Given the description of an element on the screen output the (x, y) to click on. 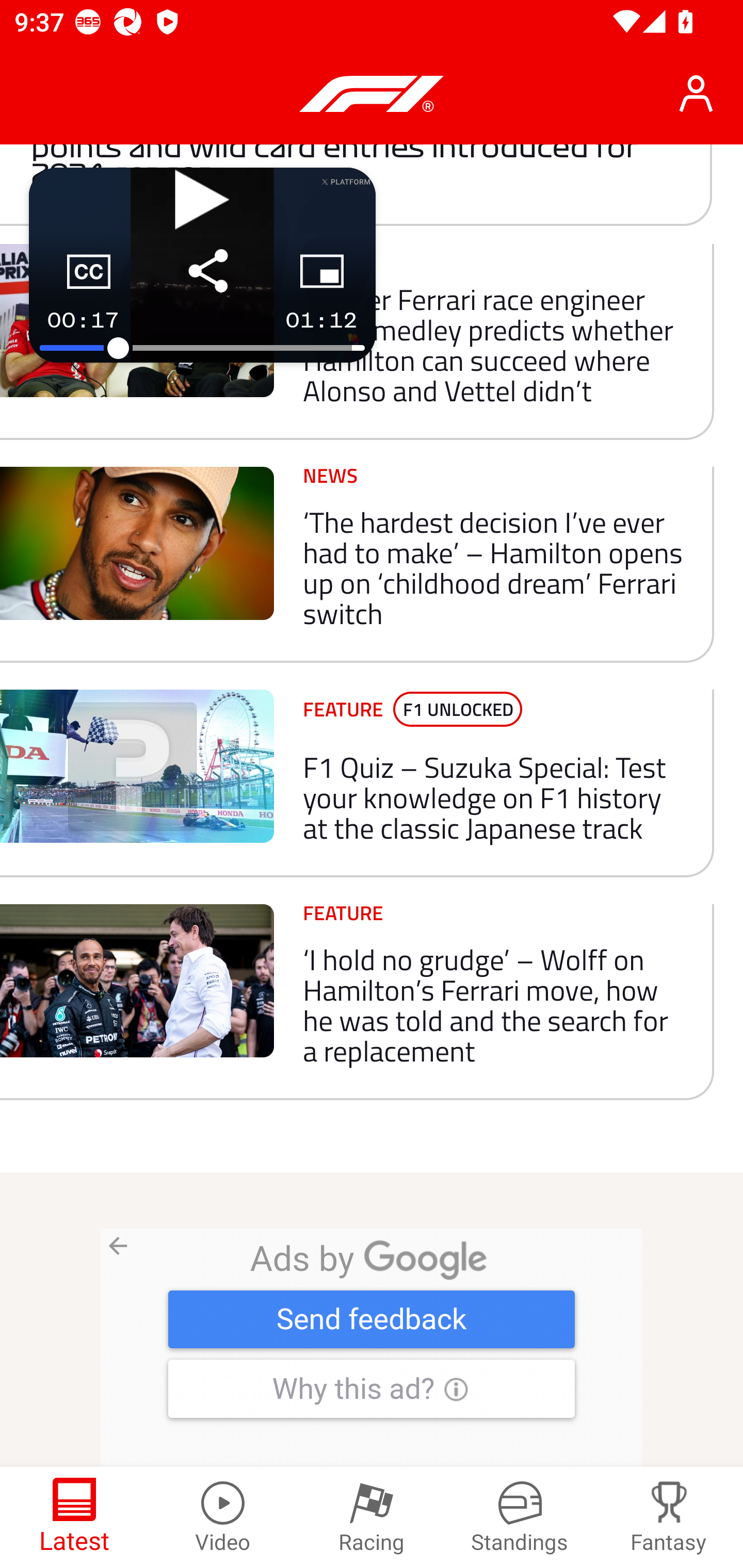
Video (222, 1517)
Racing (371, 1517)
Standings (519, 1517)
Fantasy (668, 1517)
